Given the description of an element on the screen output the (x, y) to click on. 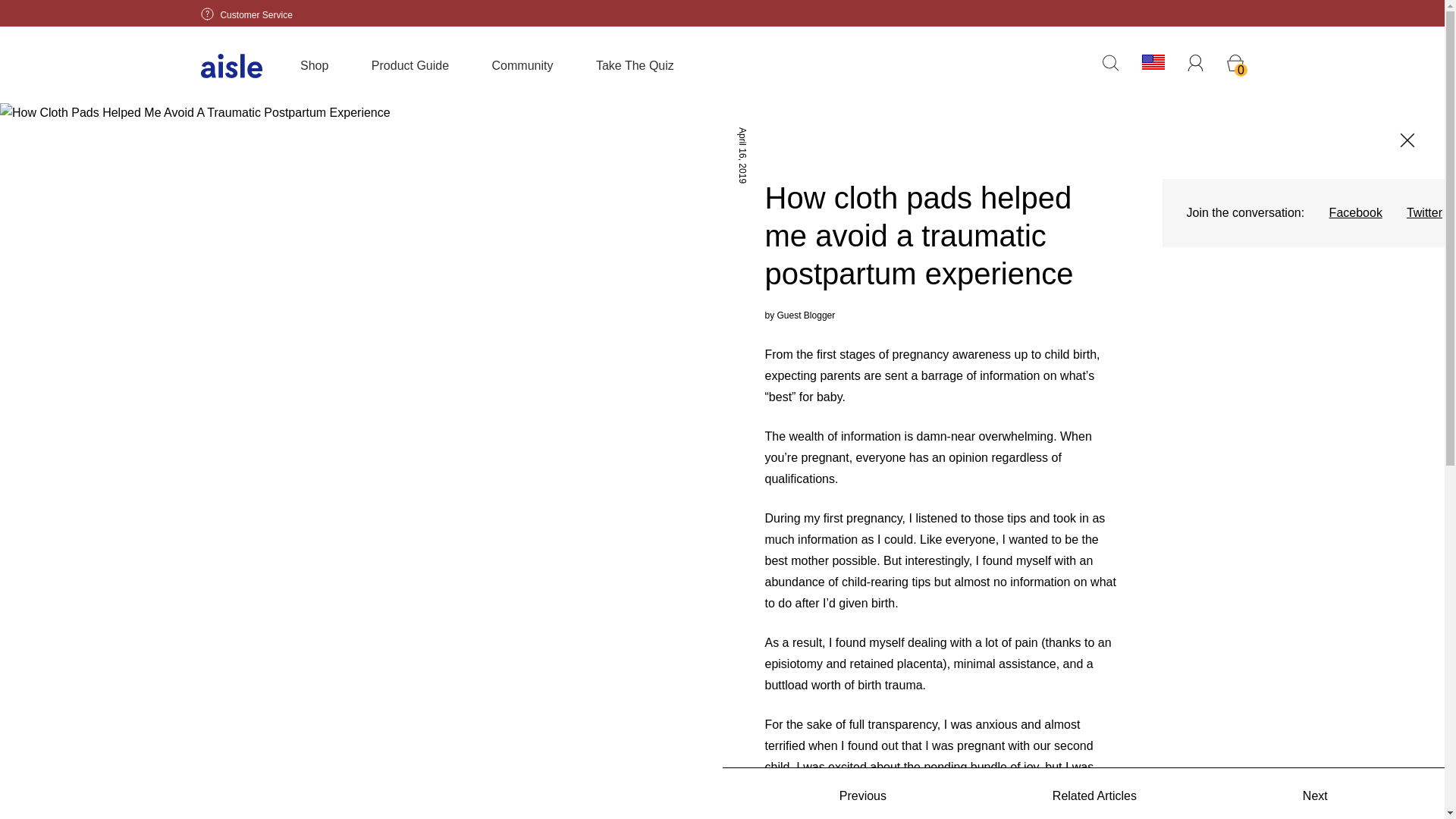
Product Guide (409, 65)
Community (522, 65)
Aisle Logo (231, 65)
Take The Quiz (634, 65)
Customer Service (246, 14)
Community (522, 65)
Product Guide (409, 65)
